Given the description of an element on the screen output the (x, y) to click on. 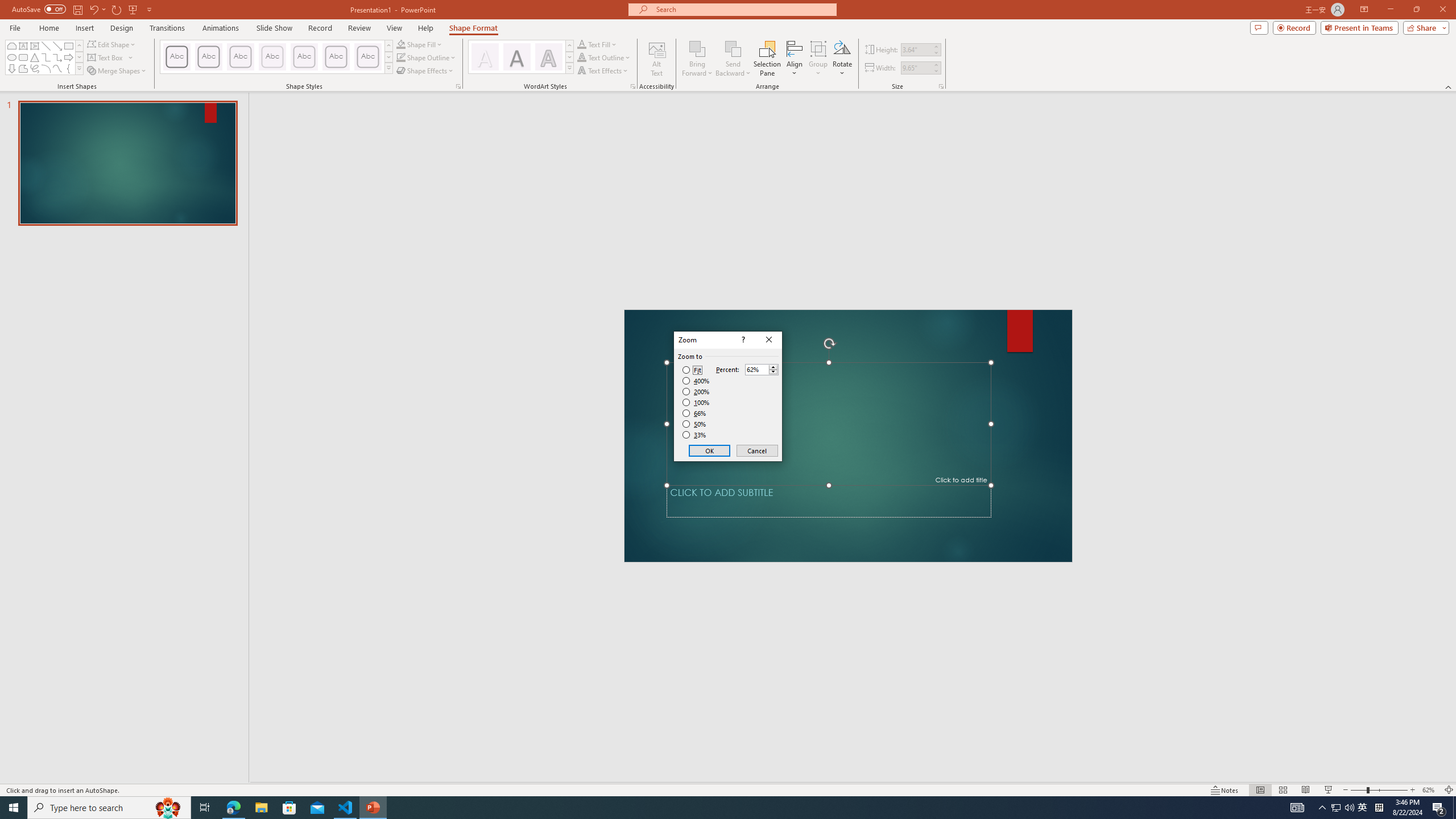
Group (817, 58)
Send Backward (733, 48)
33% (694, 434)
Text Fill RGB(0, 0, 0) (581, 44)
OK (709, 450)
Size and Position... (941, 85)
Fit (691, 370)
400% (696, 380)
